Given the description of an element on the screen output the (x, y) to click on. 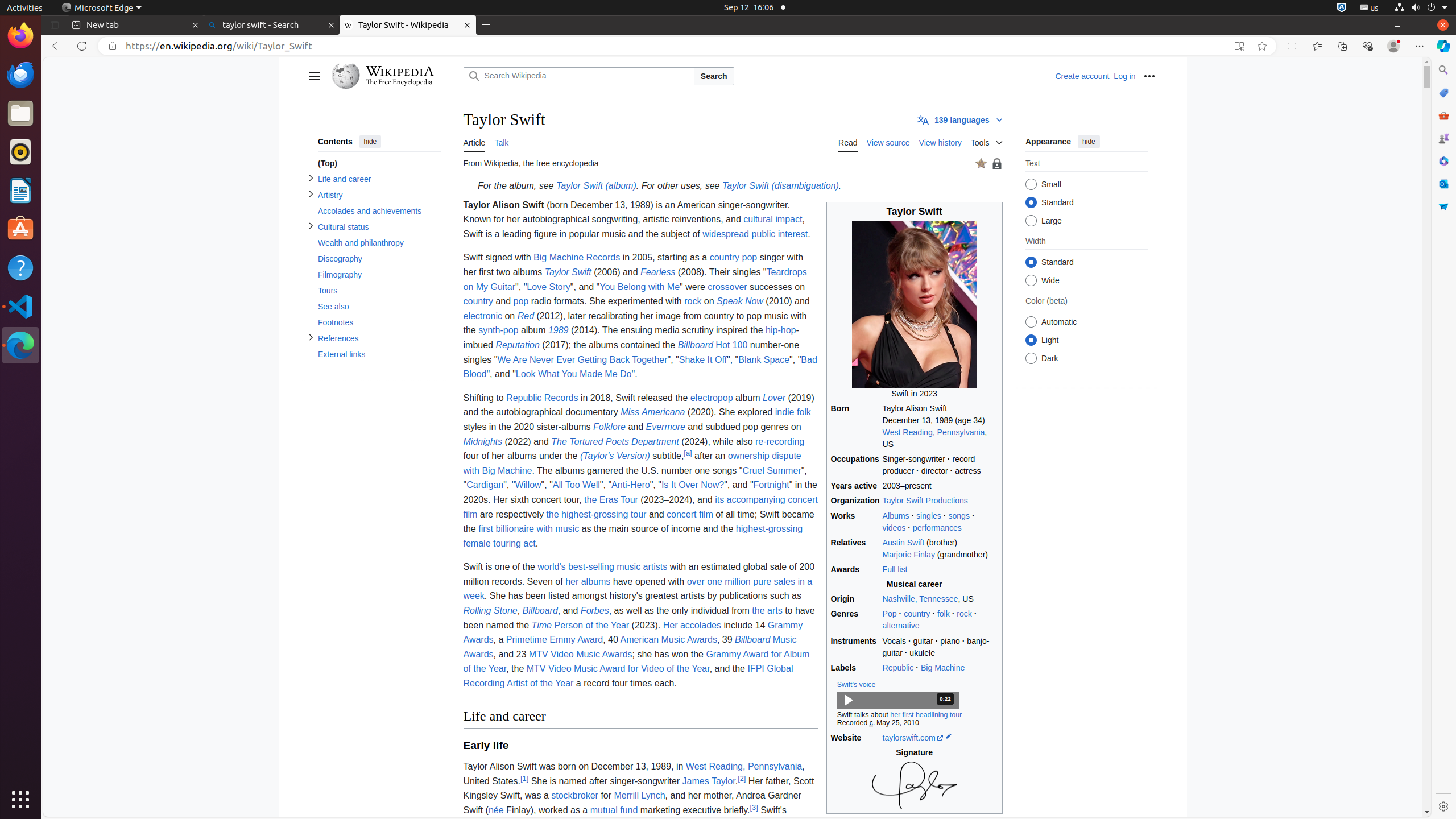
Personal tools Element type: push-button (1148, 76)
Show Applications Element type: toggle-button (20, 799)
Browser essentials Element type: push-button (1366, 45)
Big Machine Element type: link (942, 667)
Wealth and philanthropy Element type: link (378, 242)
